Given the description of an element on the screen output the (x, y) to click on. 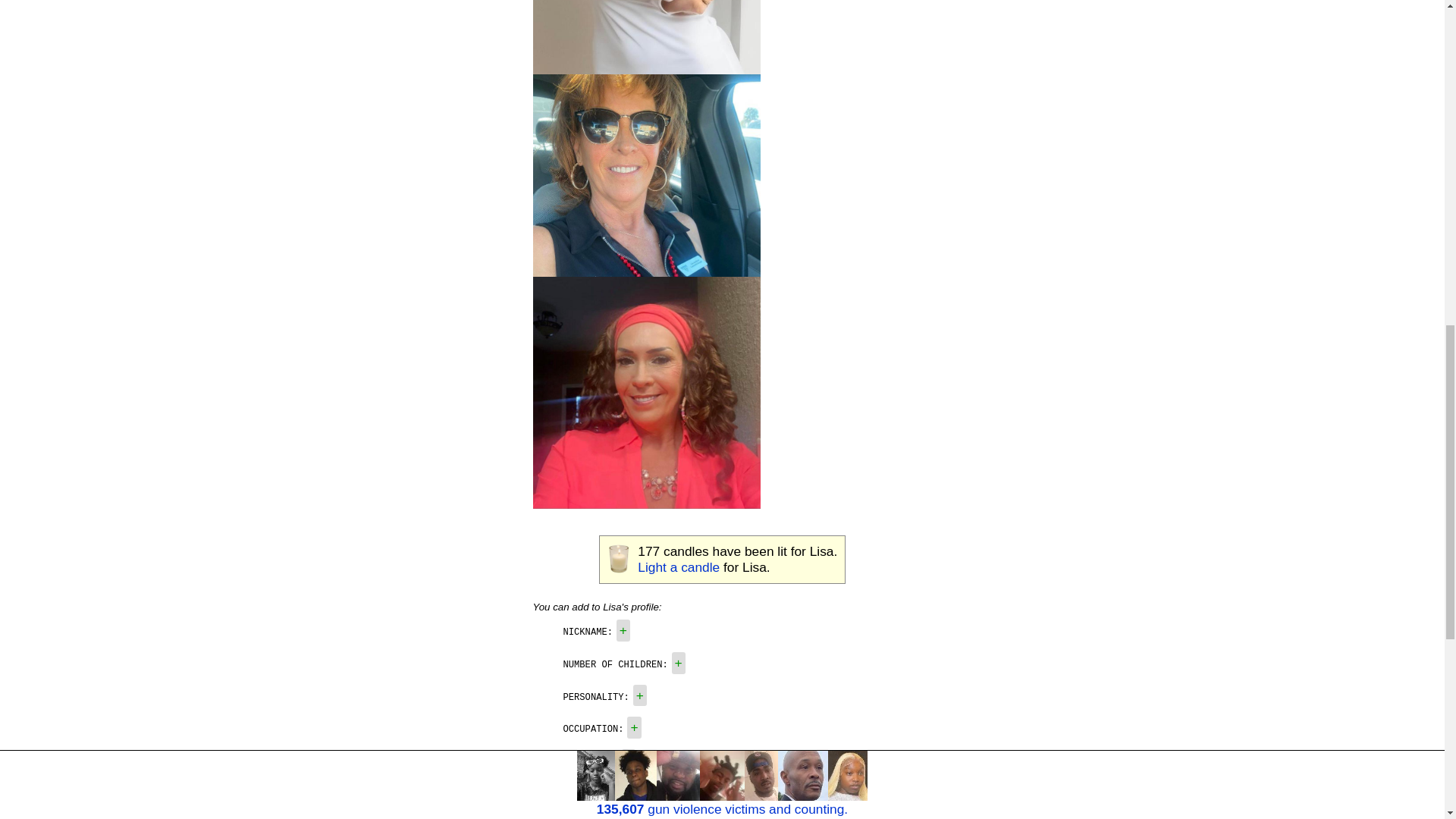
Light a candle (678, 566)
